Given the description of an element on the screen output the (x, y) to click on. 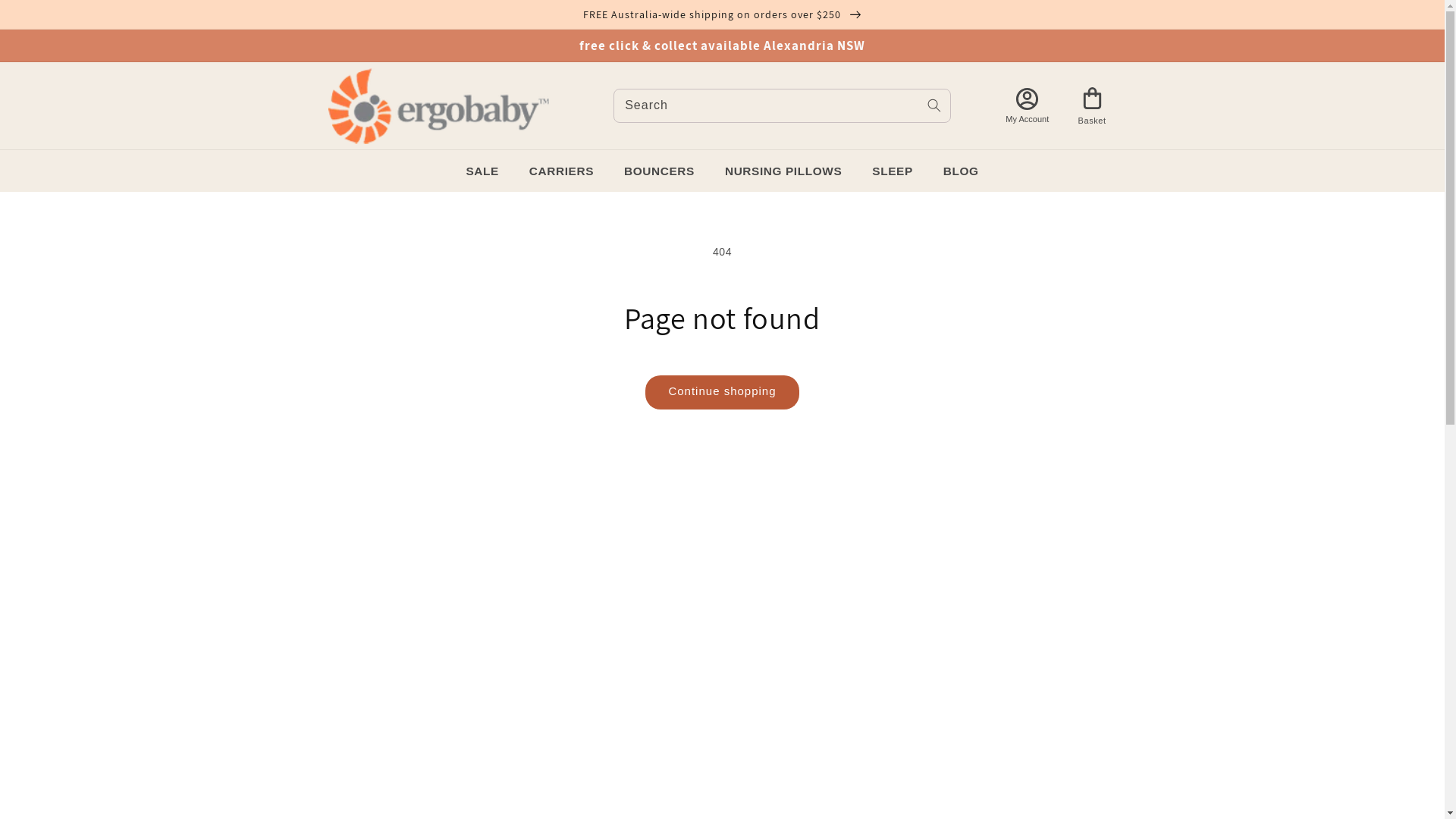
FREE Australia-wide shipping on orders over $250 Element type: text (722, 14)
Basket
Cart Element type: text (1091, 105)
SALE Element type: text (481, 170)
Continue shopping Element type: text (721, 392)
BLOG Element type: text (961, 170)
SLEEP Element type: text (891, 170)
My Account Element type: text (1027, 104)
NURSING PILLOWS Element type: text (782, 170)
BOUNCERS Element type: text (658, 170)
CARRIERS Element type: text (561, 170)
